Given the description of an element on the screen output the (x, y) to click on. 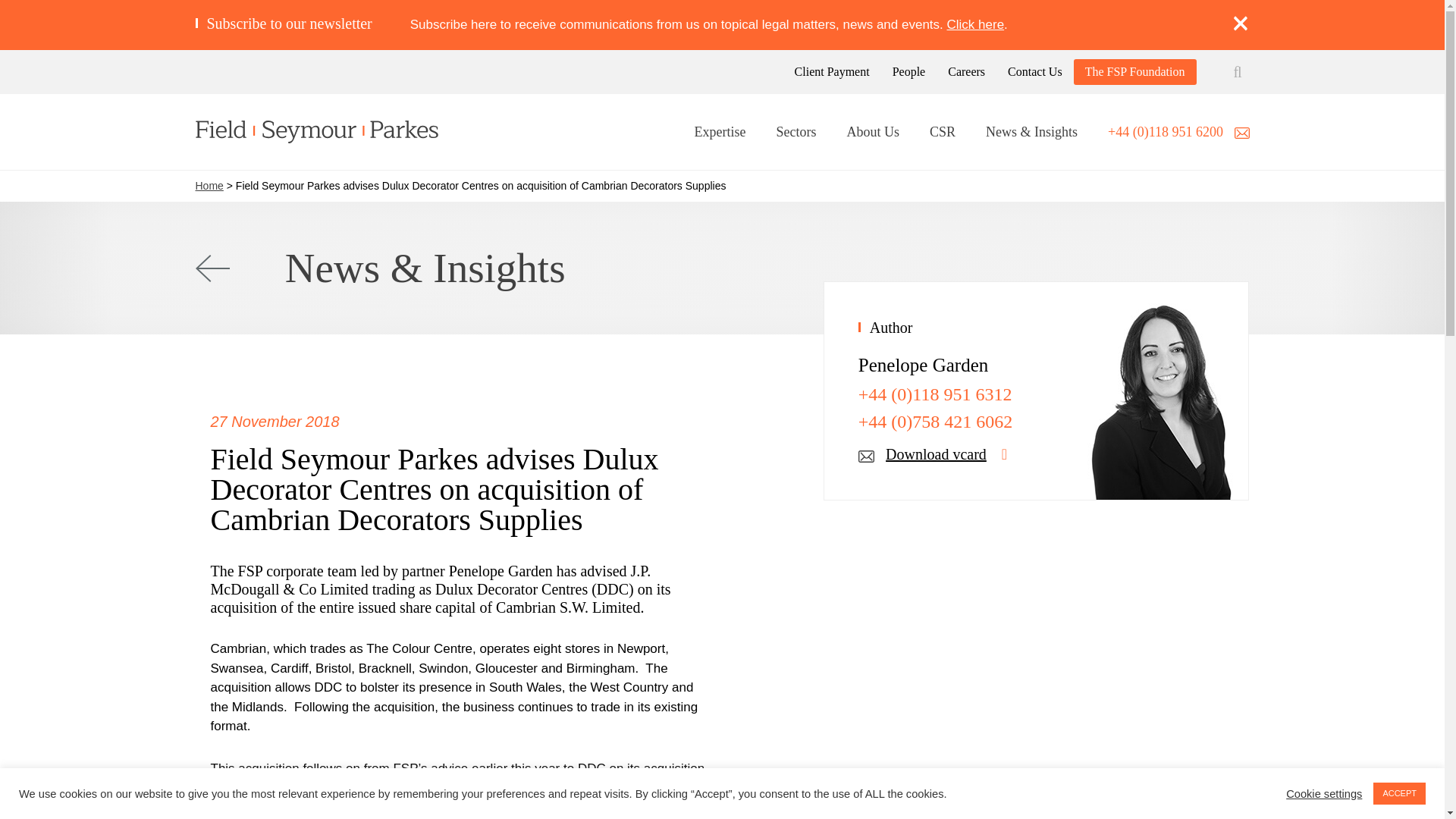
The FSP Foundation (1134, 72)
Expertise (719, 133)
Sectors (795, 133)
Client Payment (831, 71)
Click here (975, 24)
Expertise (719, 133)
Careers (966, 71)
Contact Us (1034, 71)
People (909, 71)
